Given the description of an element on the screen output the (x, y) to click on. 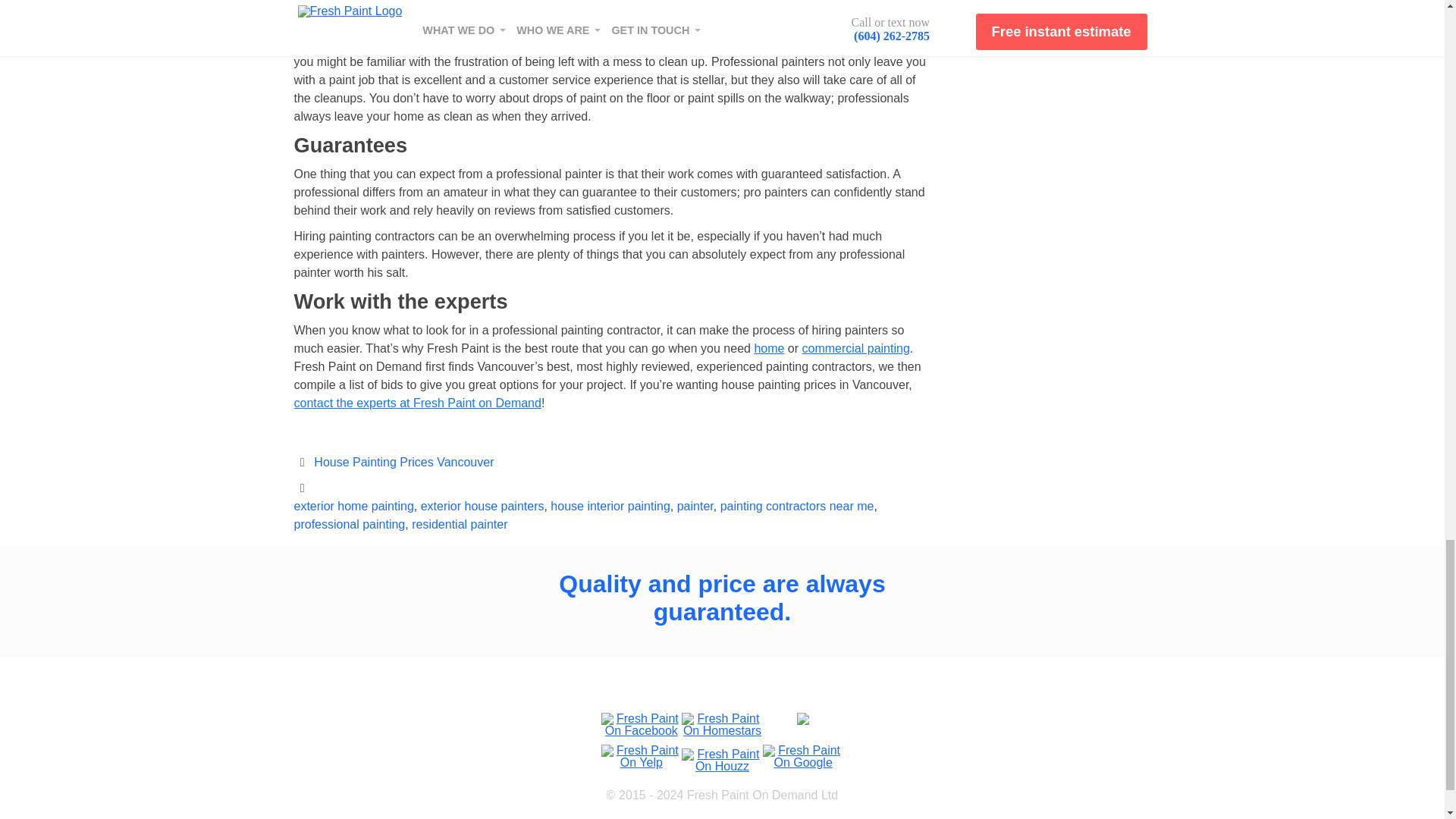
Fresh Paint On Houzz (721, 758)
Fresh Paint On Homestars (721, 724)
Fresh Paint On Yelp (640, 751)
Fresh Paint On Yelp (640, 756)
Fresh Paint On Instagram (802, 713)
Fresh Paint On Facebook (640, 724)
Fresh Paint On Google (803, 751)
Fresh Paint On Google (803, 756)
Fresh Paint On Facebook (640, 719)
Fresh Paint On Houzz (721, 753)
